Given the description of an element on the screen output the (x, y) to click on. 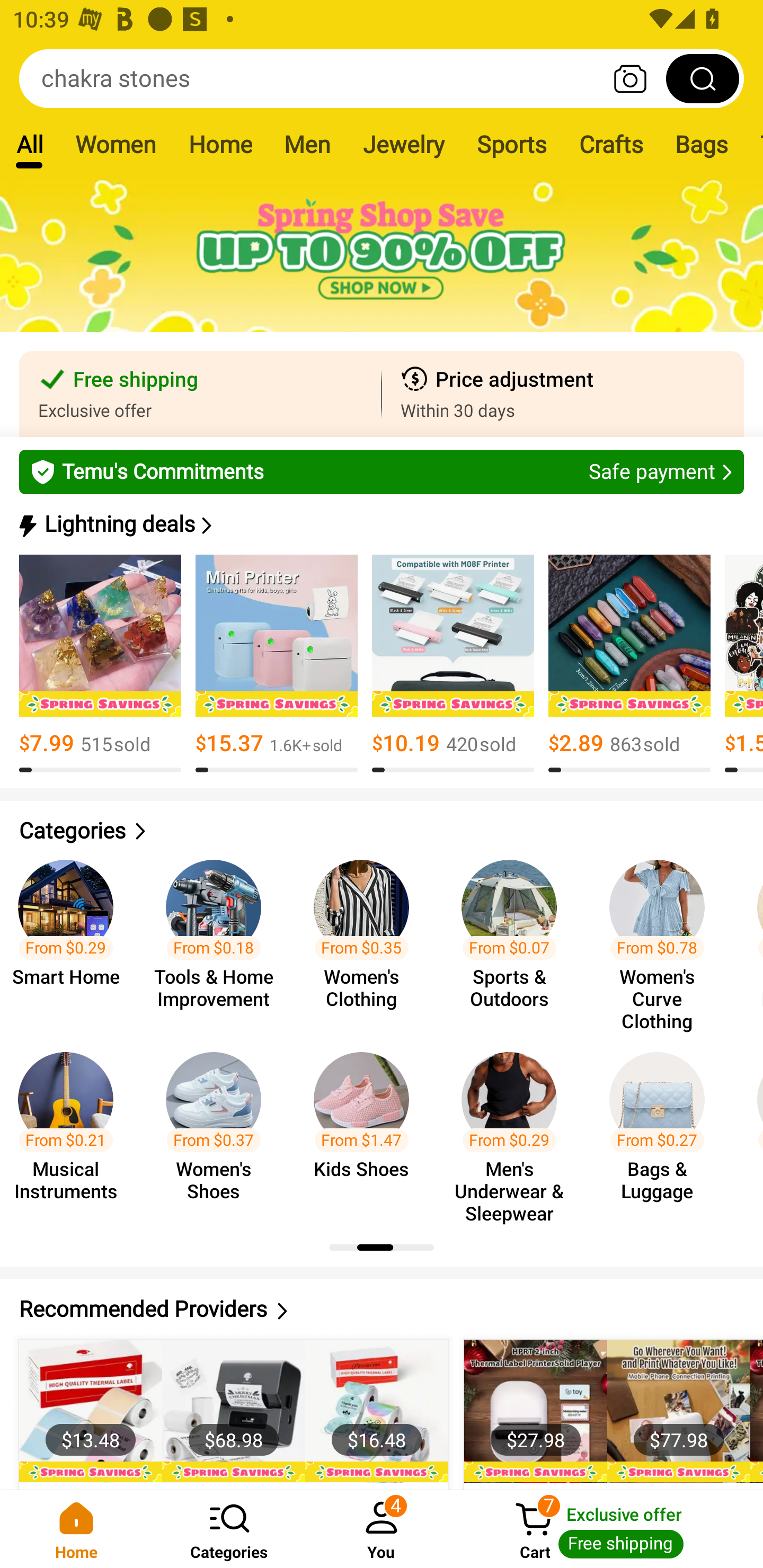
chakra stones (381, 78)
All (29, 144)
Women (115, 144)
Home (219, 144)
Men (306, 144)
Jewelry (403, 144)
Sports (511, 144)
Crafts (611, 144)
Bags (701, 144)
Free shipping Exclusive offer (200, 394)
Price adjustment Within 30 days (562, 394)
Temu's Commitments (381, 471)
Lightning deals (379, 524)
$7.99 515￼sold 8.0 (100, 664)
$15.37 1.6K+￼sold 8.0 (276, 664)
$10.19 420￼sold 8.0 (453, 664)
$2.89 863￼sold 8.0 (629, 664)
Categories (381, 830)
From $0.29 Smart Home (72, 936)
From $0.18 Tools & Home Improvement (218, 936)
From $0.35 Women's Clothing (366, 936)
From $0.07 Sports & Outdoors (515, 936)
From $0.78 Women's Curve Clothing (662, 936)
From $0.21 Musical Instruments (72, 1128)
From $0.37 Women's Shoes (218, 1128)
From $1.47 Kids Shoes (366, 1128)
From $0.29 Men's Underwear & Sleepwear (515, 1128)
From $0.27 Bags & Luggage (662, 1128)
Recommended Providers (381, 1309)
Home (76, 1528)
Categories (228, 1528)
You 4 You (381, 1528)
Cart 7 Cart Exclusive offer (610, 1528)
